Given the description of an element on the screen output the (x, y) to click on. 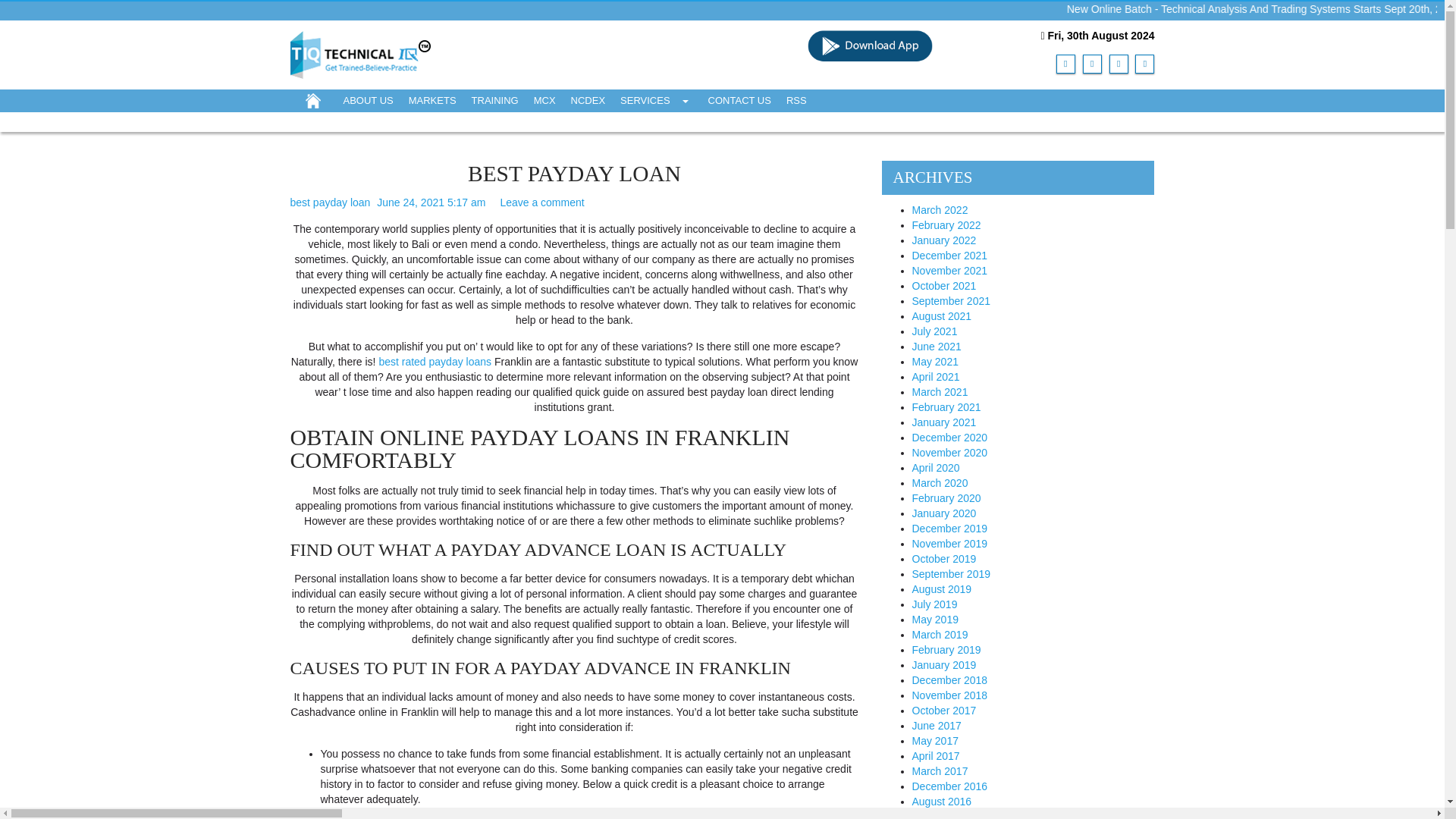
ABOUT US (367, 100)
CONTACT US (739, 100)
RSS (795, 100)
best payday loan (329, 202)
NCDEX (587, 100)
November 2021 (949, 270)
TRAINING (494, 100)
September 2021 (950, 300)
December 2021 (949, 255)
MARKETS (432, 100)
